Given the description of an element on the screen output the (x, y) to click on. 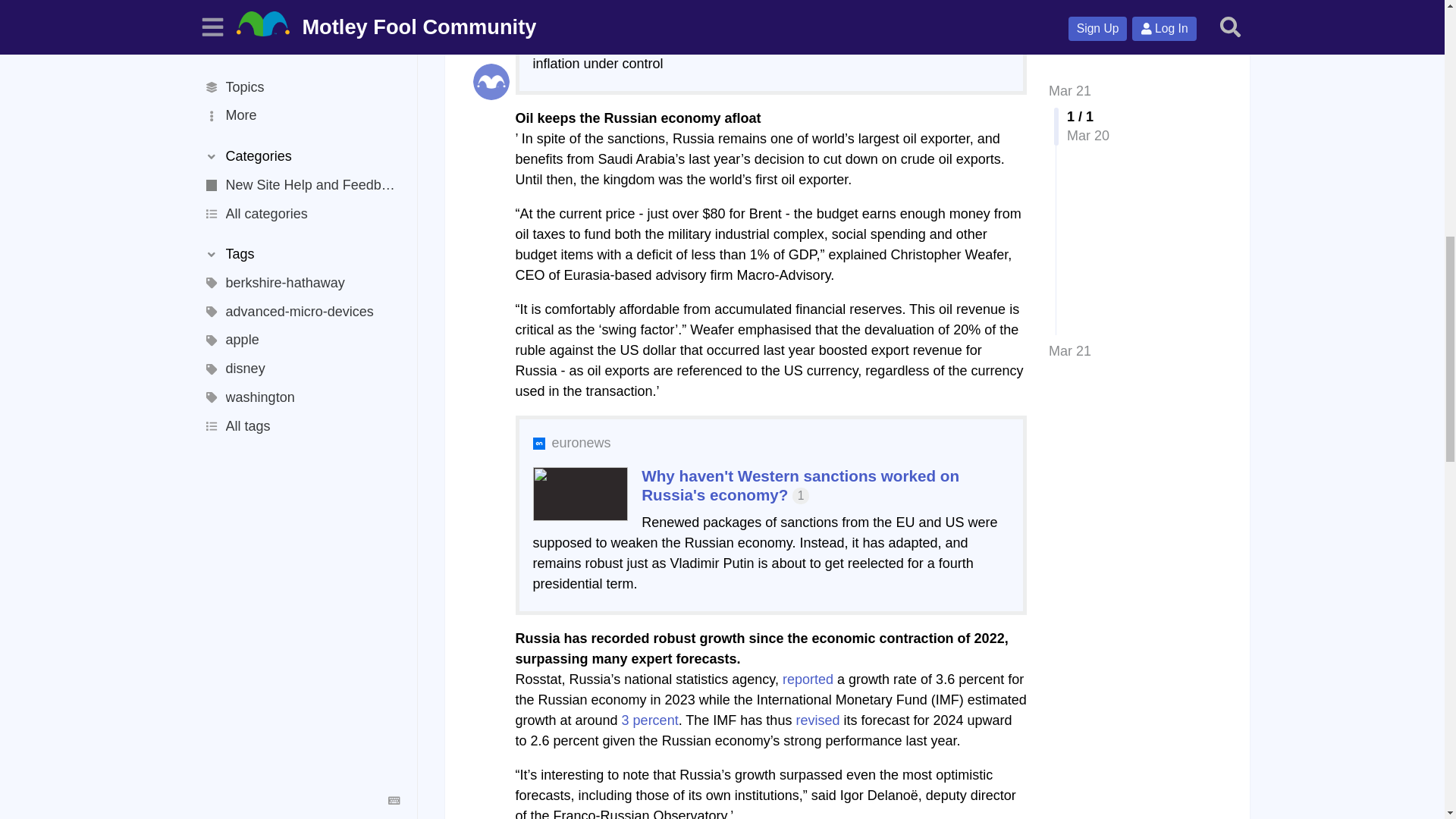
euronews (581, 443)
Why haven't Western sanctions worked on Russia's economy? 1 (800, 484)
revised (817, 720)
3 percent (649, 720)
reported (807, 679)
